Given the description of an element on the screen output the (x, y) to click on. 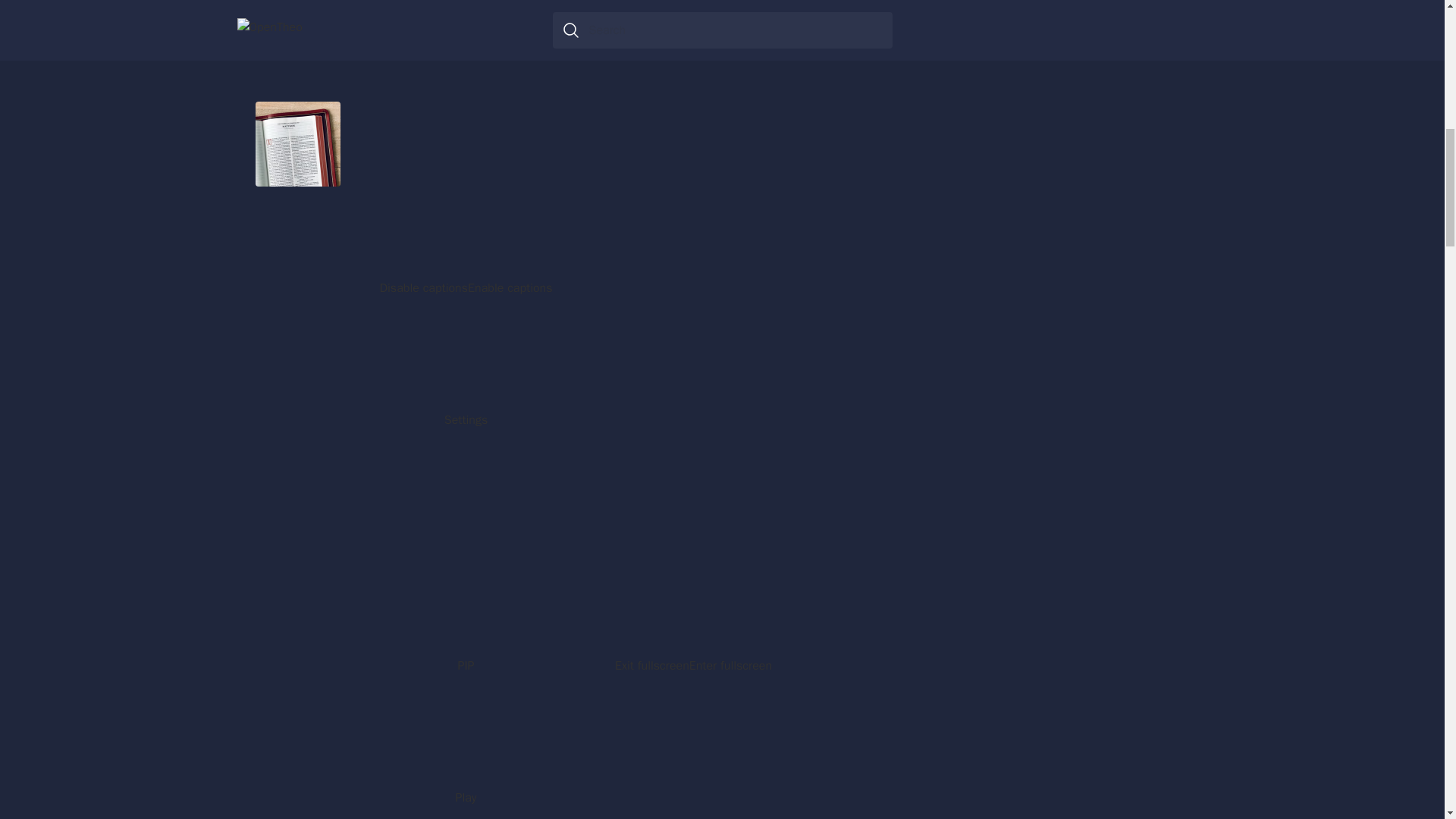
Skip to 1:32 (549, 194)
MORE SERIES BY STEVE GREGG (1049, 673)
Skip to 1:51 (553, 243)
Skip to 0:36 (556, 33)
Skip to 1:03 (557, 125)
Skip to 1:08 (449, 149)
Skip to 0:48 (476, 82)
Skip to 0:56 (552, 91)
